Given the description of an element on the screen output the (x, y) to click on. 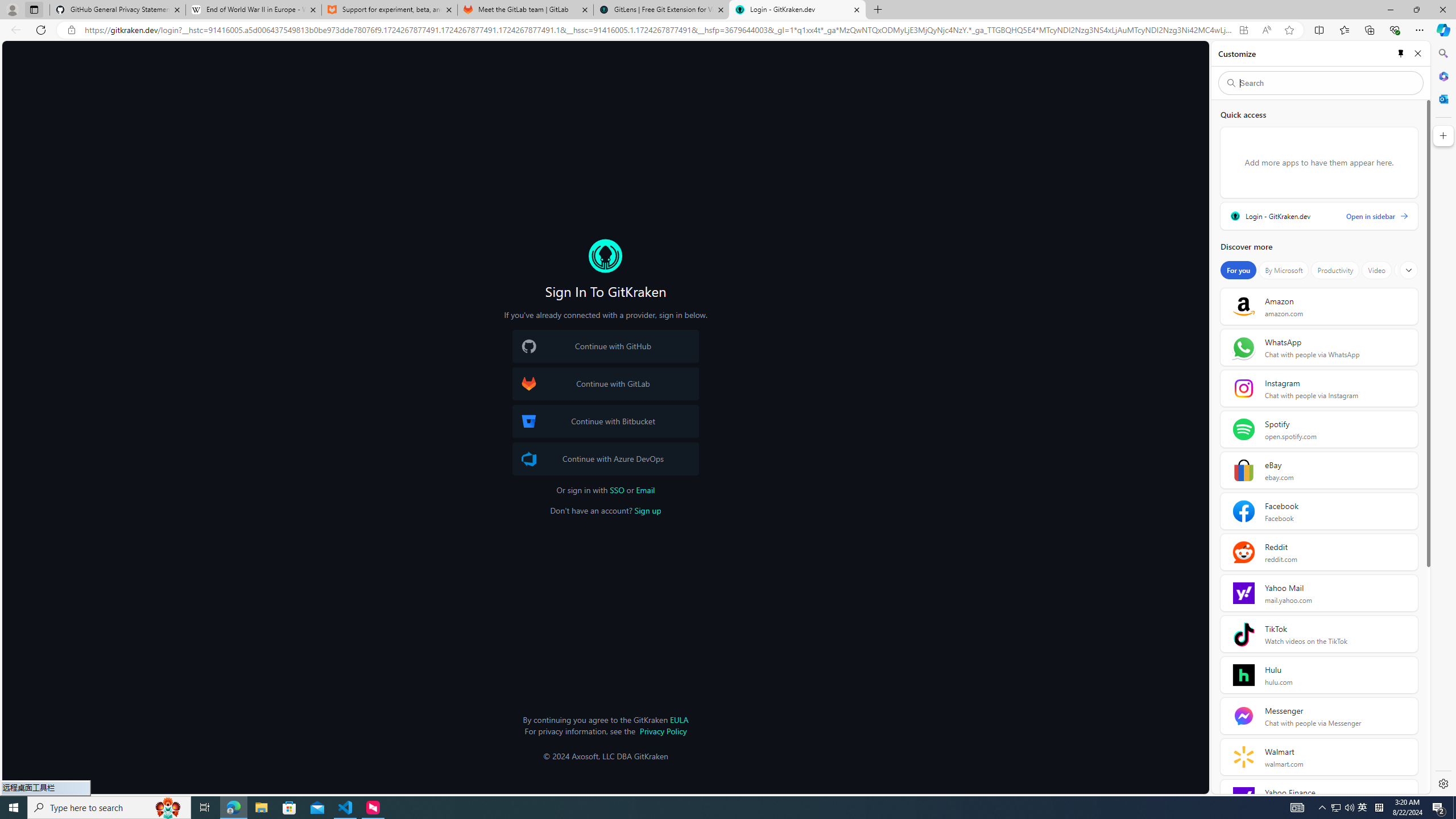
Bitbucket Logo (528, 421)
Productivity (1334, 270)
For you (1238, 270)
EULA (678, 719)
App available. Install GitKraken.dev (1243, 29)
GitLab Logo (528, 383)
SSO (617, 489)
